Given the description of an element on the screen output the (x, y) to click on. 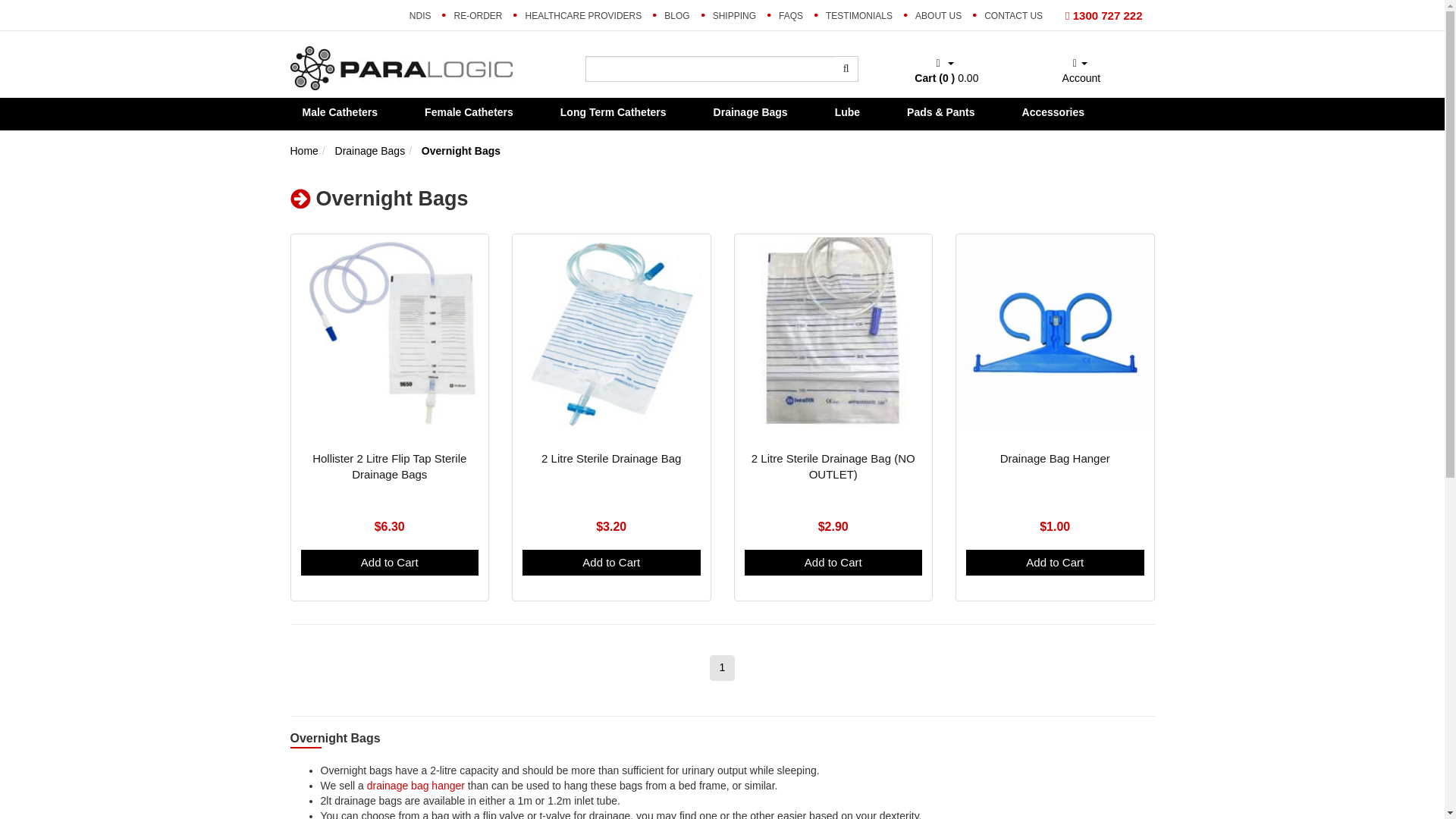
1300 727 222 (1103, 14)
Hollister 2 Litre Flip Tap Sterile Drainage Bags (389, 466)
 Account (1079, 71)
CONTACT US (1013, 14)
Add to Cart (833, 561)
2 Litre Sterile Drainage Bag (611, 458)
RE-ORDER (477, 14)
FAQS (790, 14)
Male Catheters (344, 111)
Drainage Bag Hanger (1054, 458)
